Given the description of an element on the screen output the (x, y) to click on. 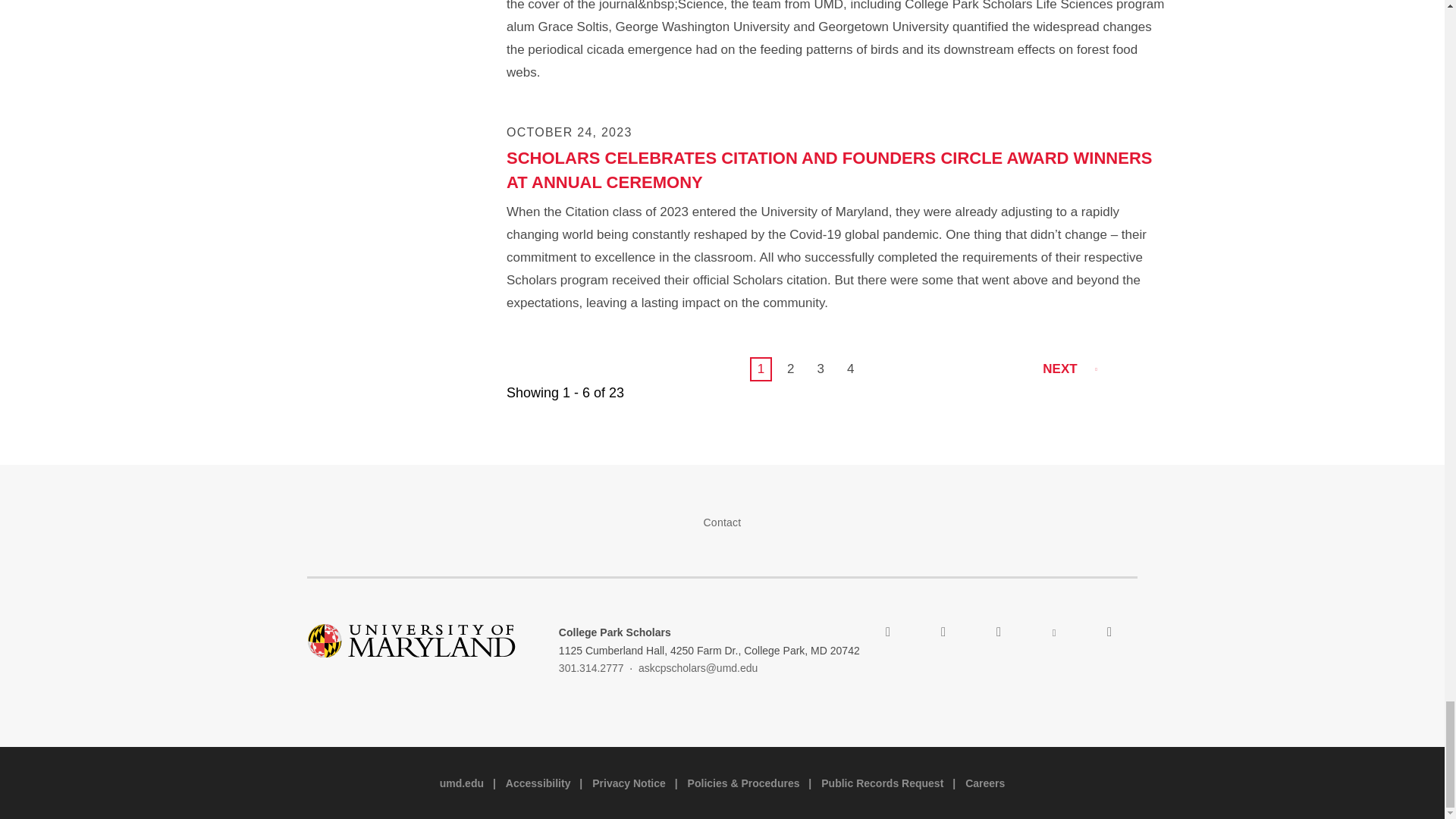
Go to page 2 (790, 369)
Go to next page (1068, 369)
Go to page 3 (820, 369)
Current page (760, 369)
Go to page 4 (850, 369)
Contact Us (722, 522)
